Given the description of an element on the screen output the (x, y) to click on. 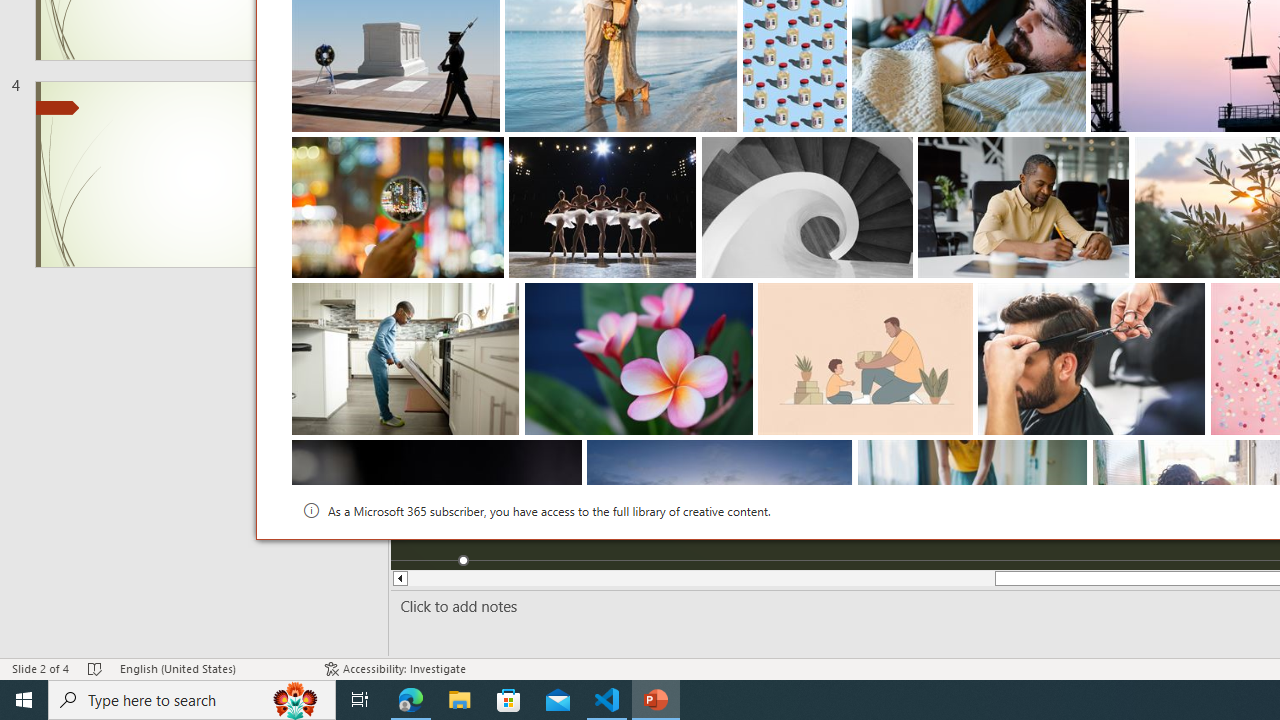
Type here to search (191, 699)
Microsoft Store (509, 699)
Visual Studio Code - 1 running window (607, 699)
Task View (359, 699)
Start (24, 699)
Search highlights icon opens search home window (295, 699)
